Given the description of an element on the screen output the (x, y) to click on. 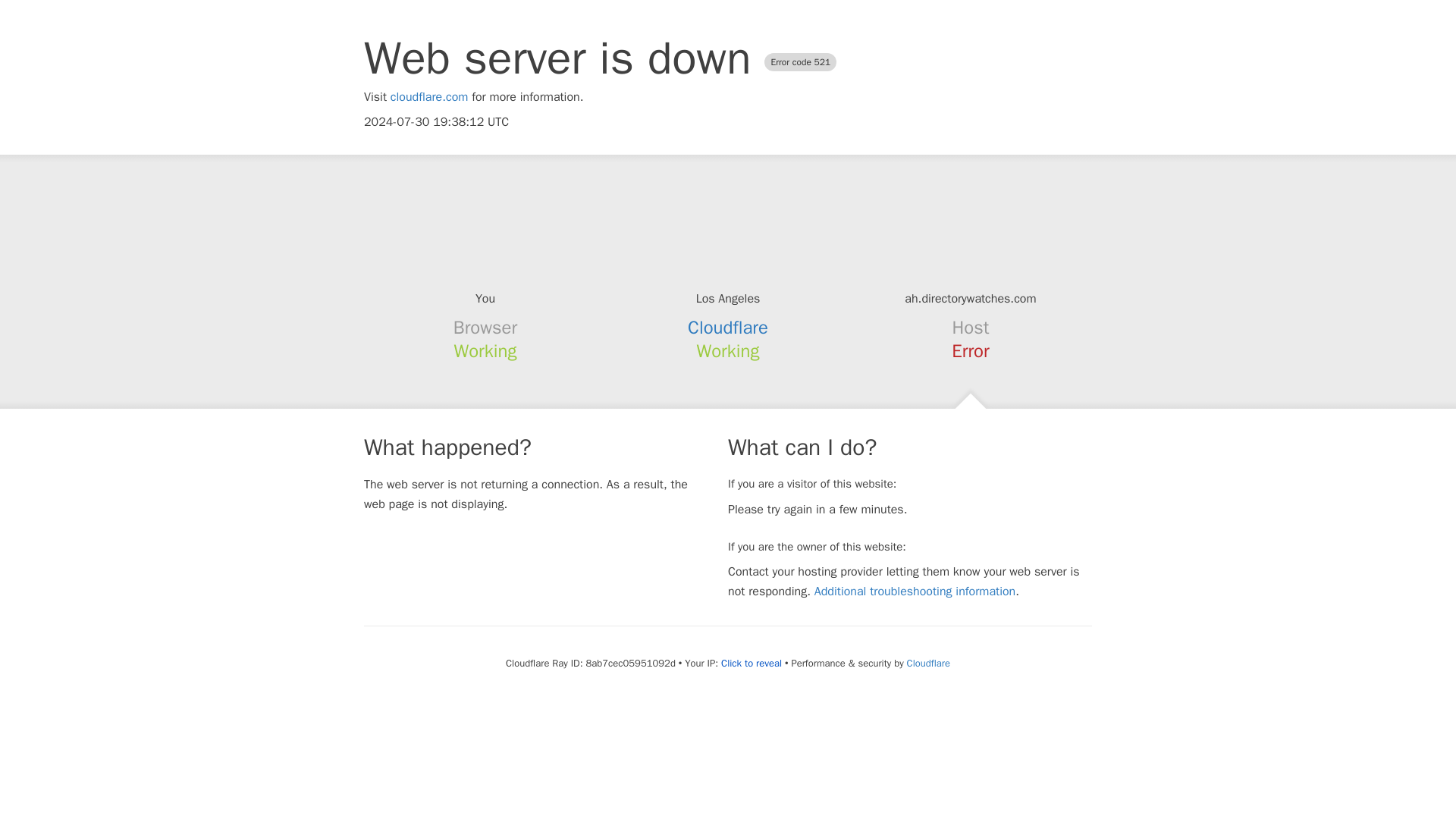
Cloudflare (727, 327)
cloudflare.com (429, 96)
Additional troubleshooting information (913, 590)
Cloudflare (928, 662)
Click to reveal (750, 663)
